Given the description of an element on the screen output the (x, y) to click on. 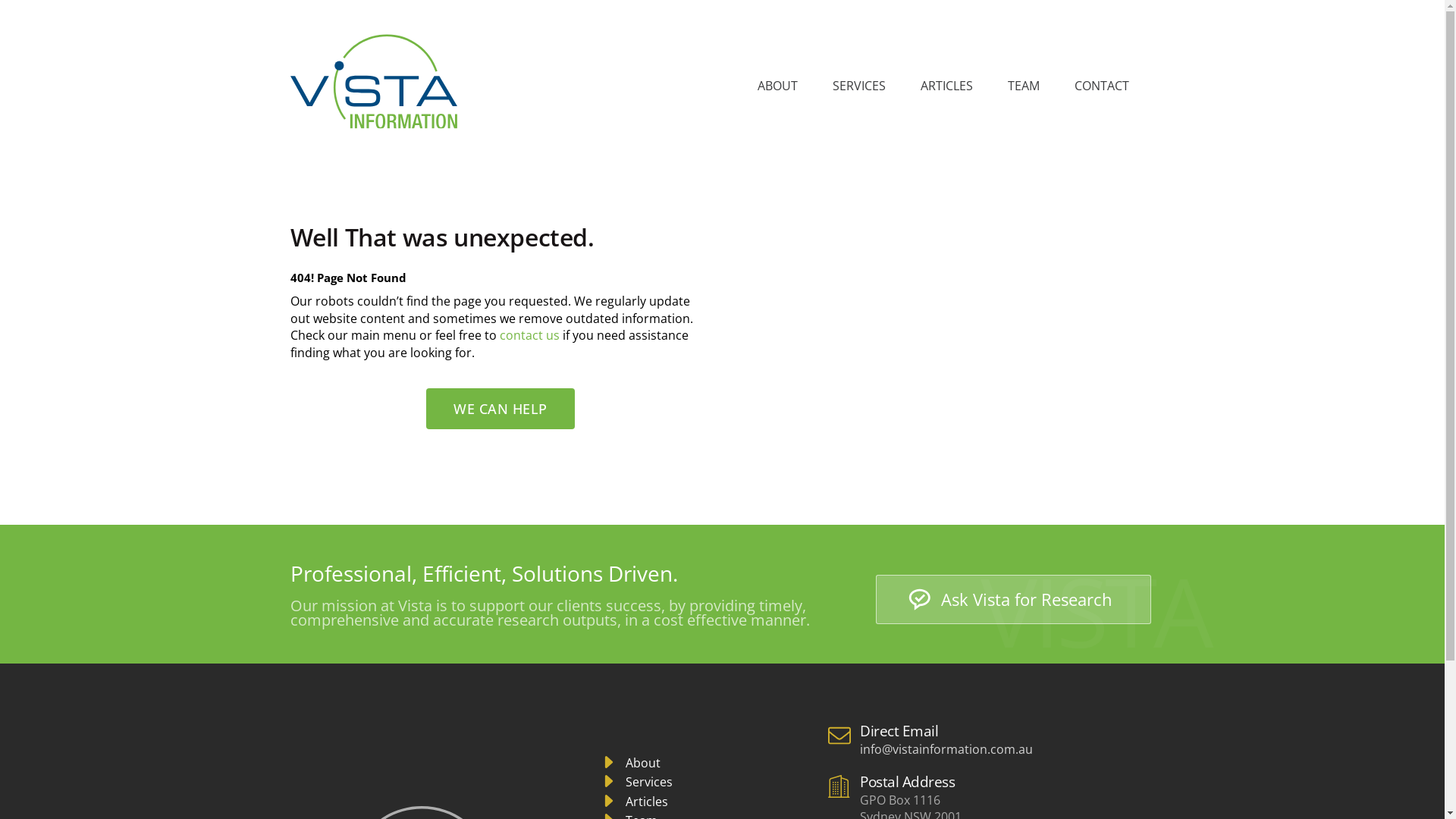
ABOUT Element type: text (776, 86)
About Element type: text (629, 763)
Ask Vista for Research Element type: text (1012, 599)
TEAM Element type: text (1022, 86)
Articles Element type: text (633, 802)
SERVICES Element type: text (858, 86)
WE CAN HELP Element type: text (500, 408)
info@vistainformation.com.au Element type: text (945, 748)
contact us Element type: text (528, 334)
CONTACT Element type: text (1100, 86)
Services Element type: text (635, 782)
ARTICLES Element type: text (946, 86)
